Given the description of an element on the screen output the (x, y) to click on. 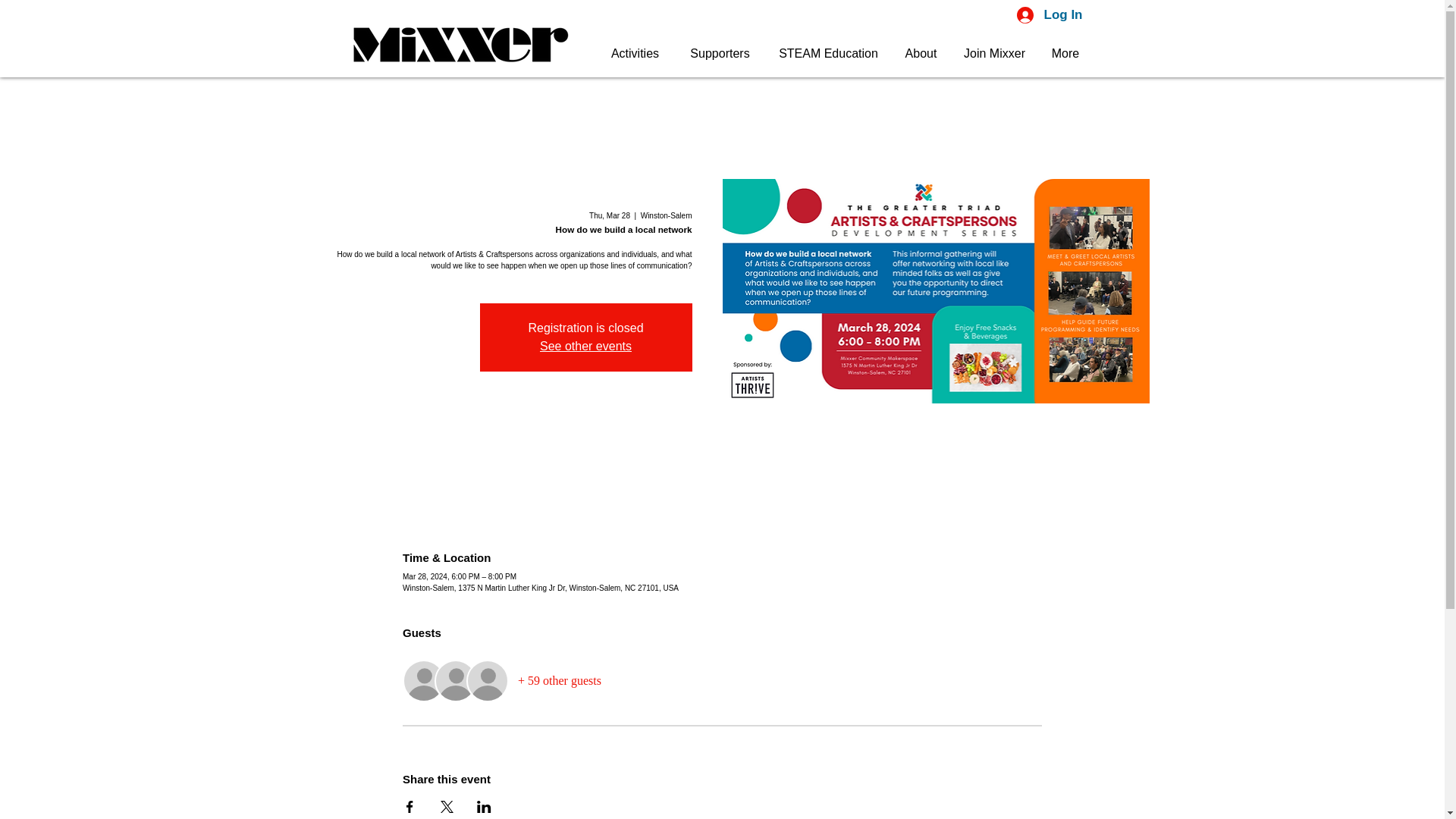
STEAM Education (827, 53)
Log In (1049, 14)
Join Mixxer (993, 53)
Activities (633, 53)
See other events (585, 345)
